Given the description of an element on the screen output the (x, y) to click on. 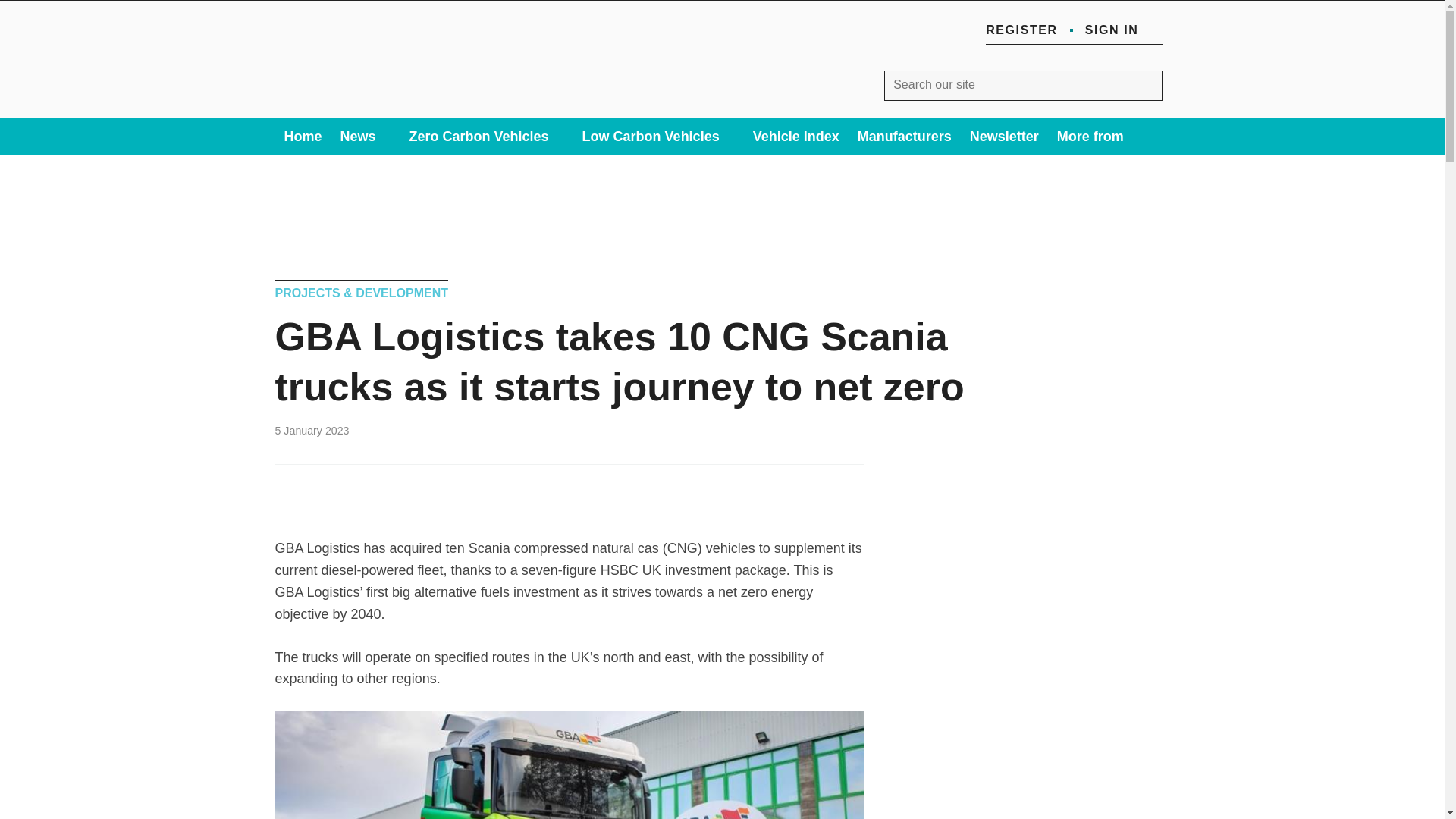
SIGN IN (1122, 29)
Share this on Linked in (356, 485)
Share this on Twitter (322, 485)
SEARCH (1146, 85)
Site name (374, 102)
REGISTER (1021, 29)
Home (302, 135)
News (365, 135)
Share this on Facebook (288, 485)
Email this article (391, 485)
